Given the description of an element on the screen output the (x, y) to click on. 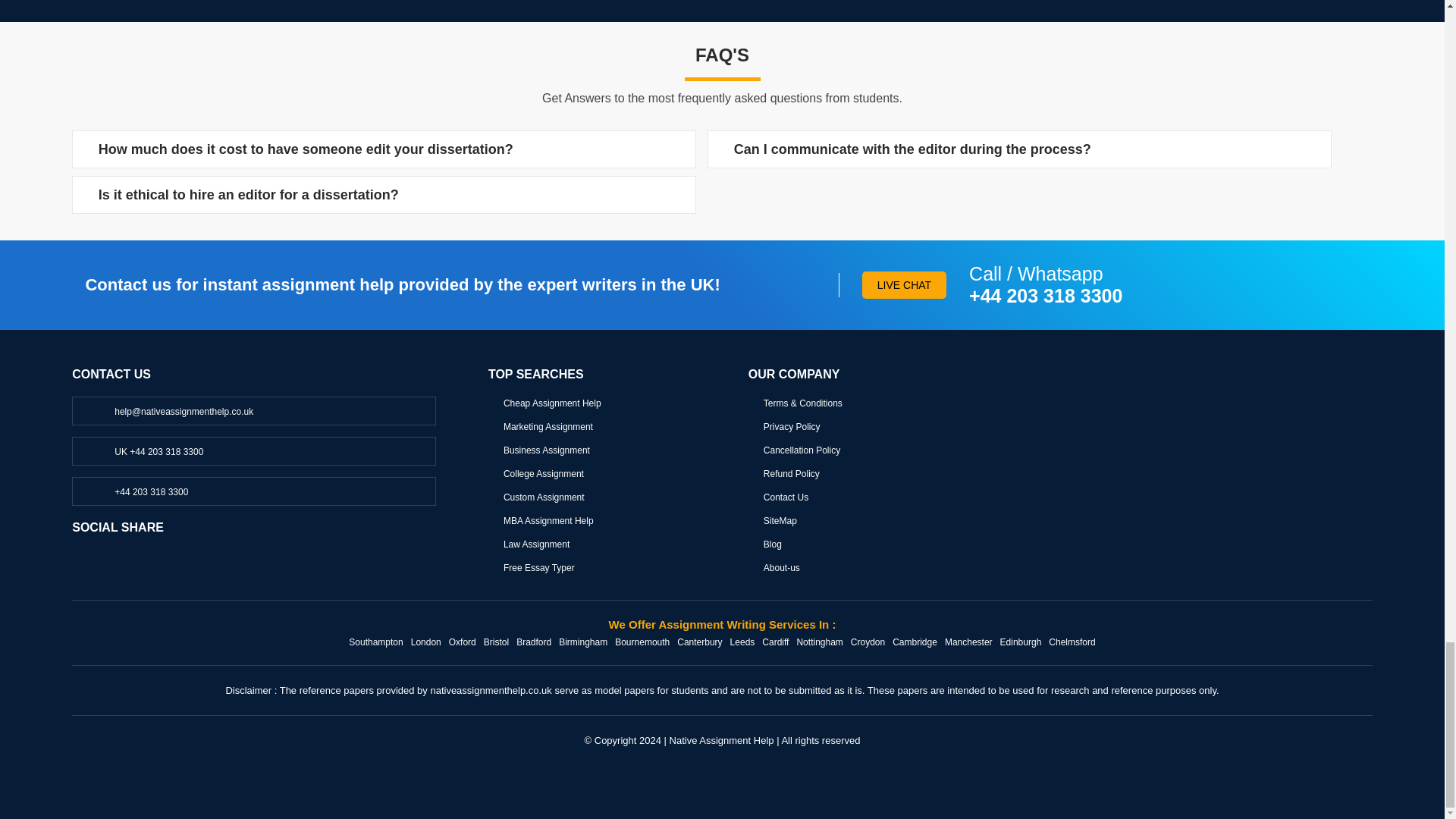
Live Chat on WhatsApp (135, 491)
